Given the description of an element on the screen output the (x, y) to click on. 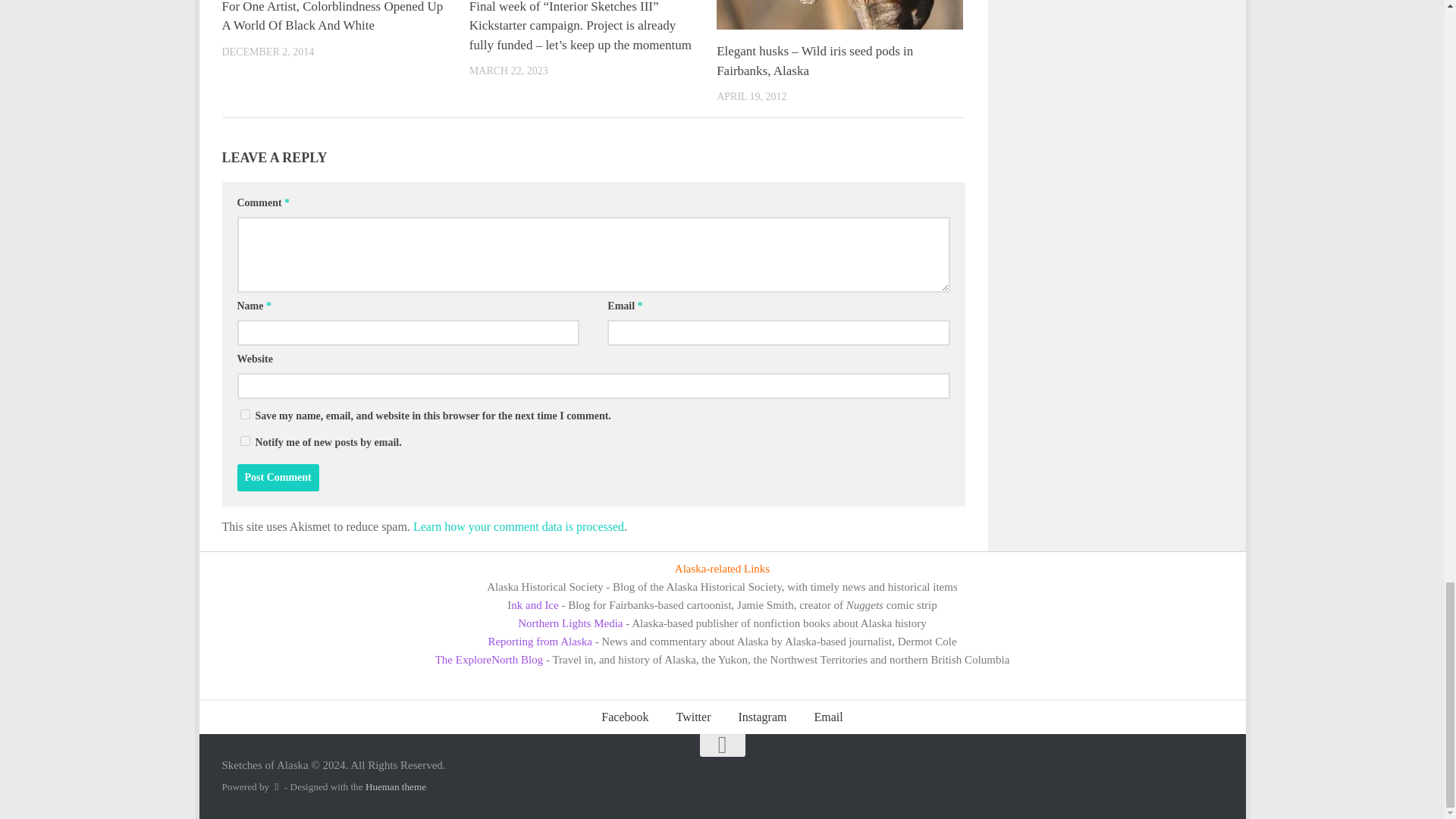
Post Comment (276, 477)
yes (244, 414)
subscribe (244, 440)
